Given the description of an element on the screen output the (x, y) to click on. 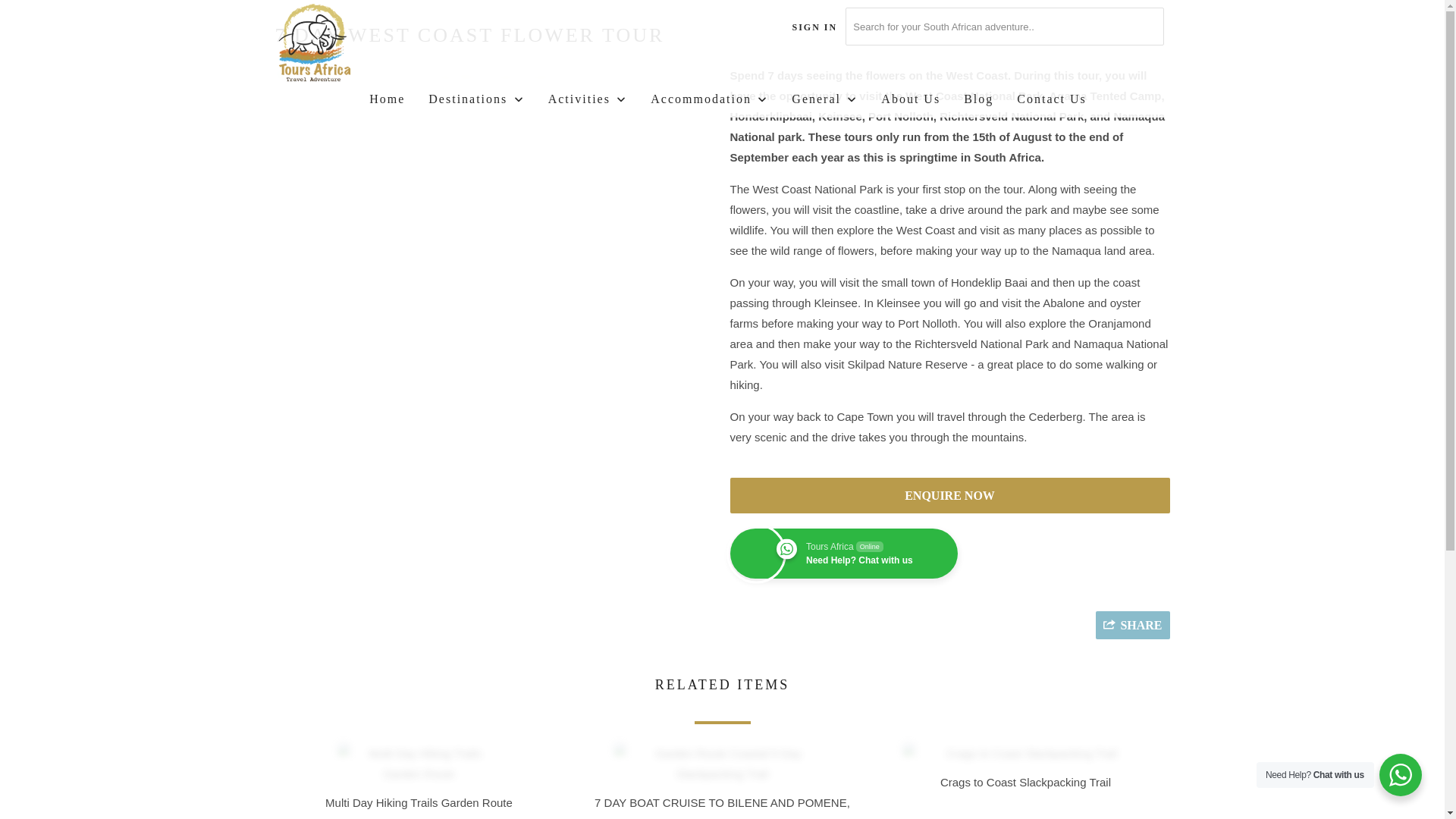
7 Day West Coast Flower Tour (137, 75)
7 Day West Coast Flower Tour (494, 75)
Tours Africa (352, 43)
My Account  (814, 27)
